Given the description of an element on the screen output the (x, y) to click on. 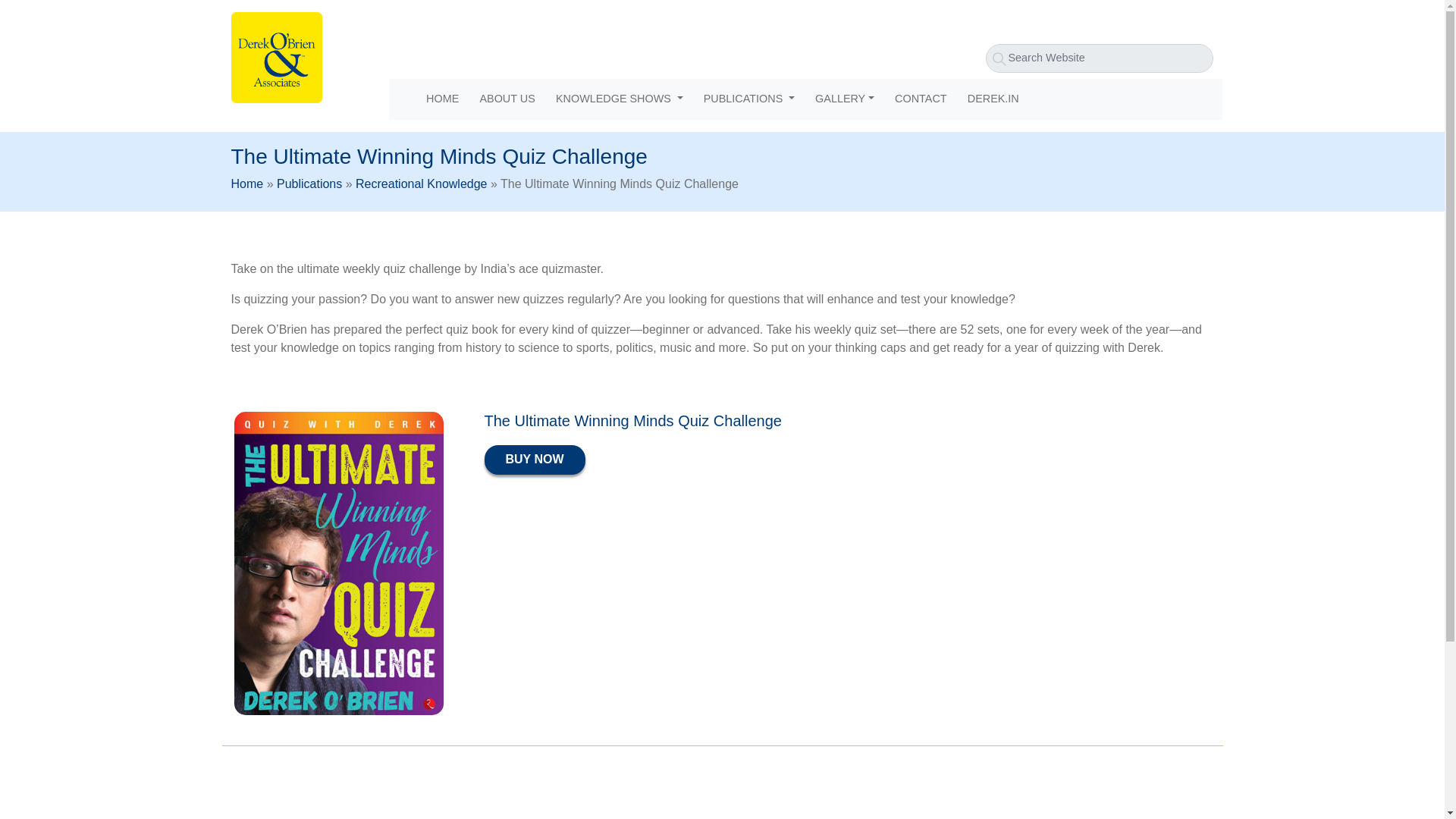
PUBLICATIONS (749, 99)
KNOWLEDGE SHOWS (618, 99)
ABOUT US (507, 99)
GALLERY (845, 99)
CONTACT (919, 99)
DEREK.IN (992, 99)
HOME (441, 99)
